Given the description of an element on the screen output the (x, y) to click on. 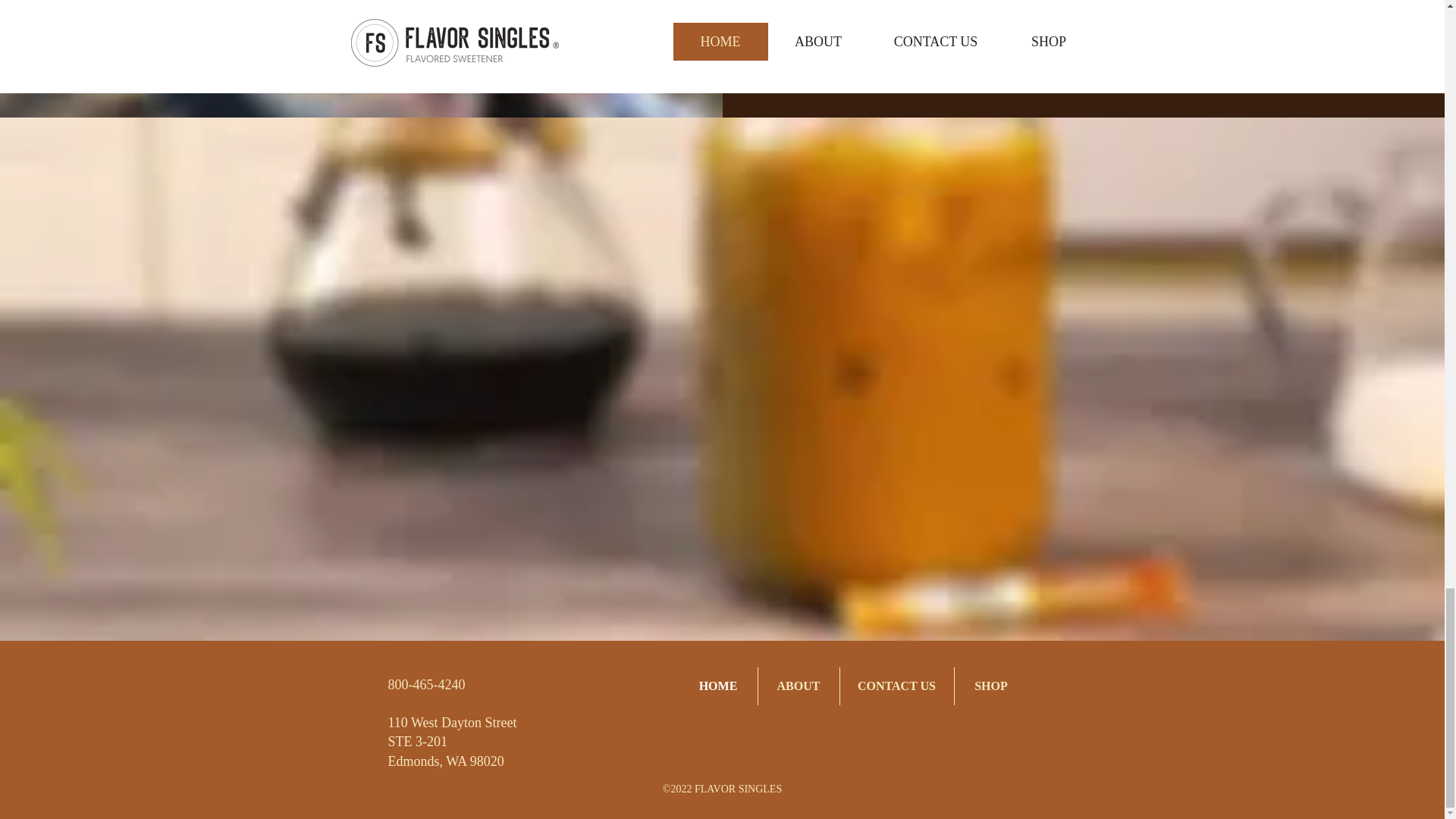
ABOUT (799, 686)
HOME (718, 686)
CONTACT US (896, 686)
SHOP (990, 686)
